Given the description of an element on the screen output the (x, y) to click on. 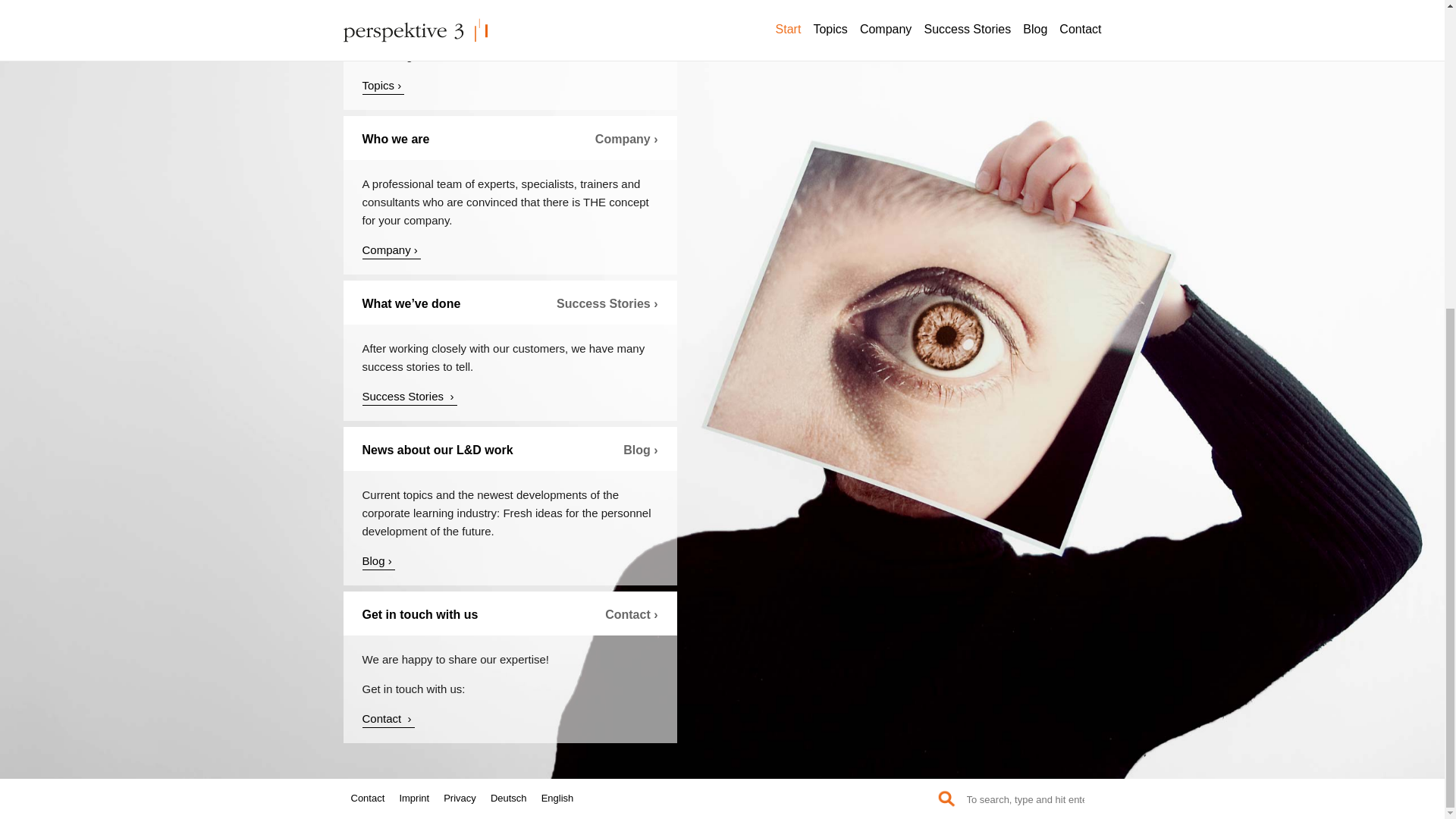
Unternehmen (392, 251)
Contact (373, 309)
Imprint (419, 309)
Success Stories (409, 397)
Kontakt (388, 719)
English (563, 309)
Privacy (465, 309)
Deutsch (514, 309)
Themen (383, 86)
